Given the description of an element on the screen output the (x, y) to click on. 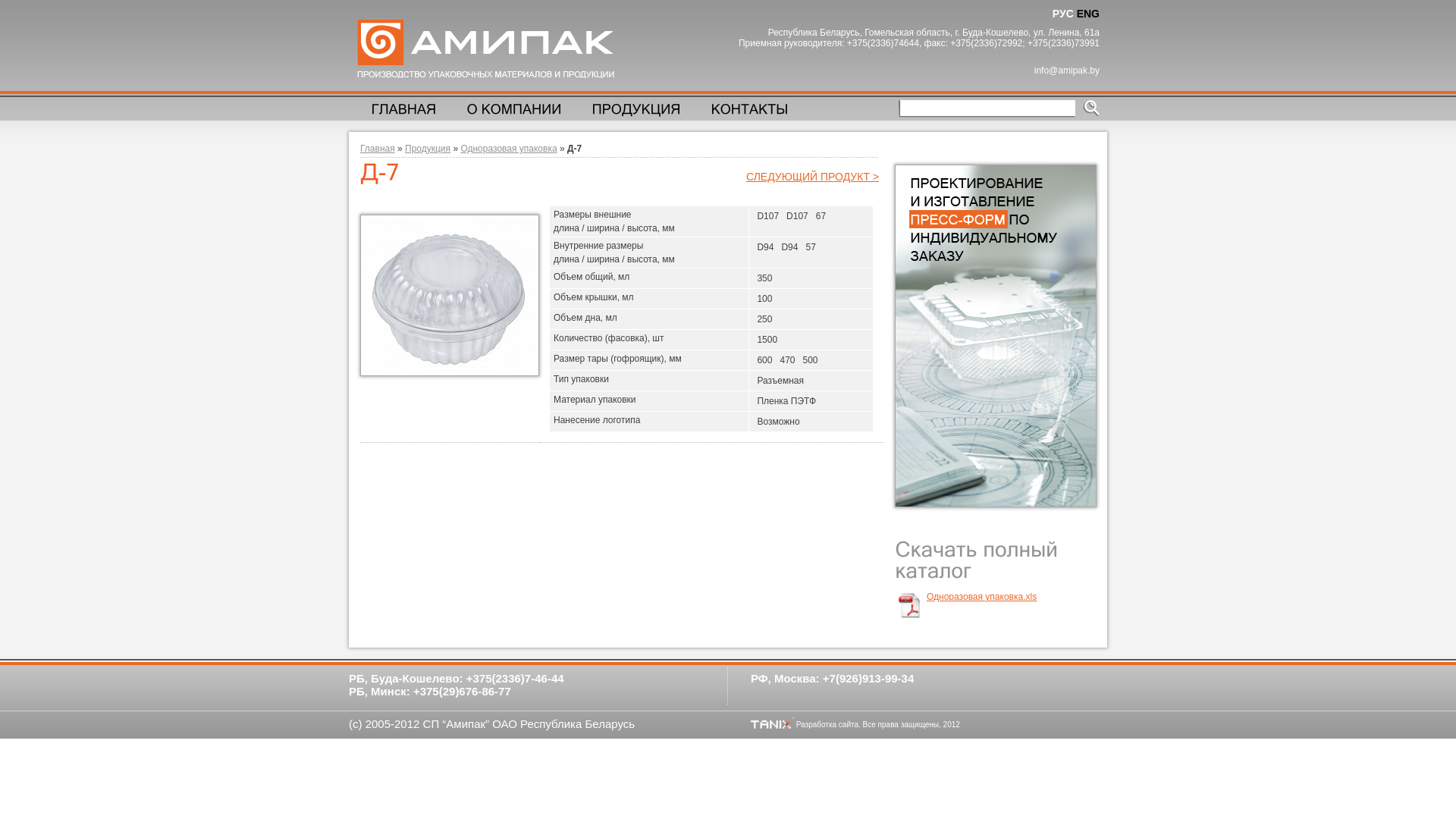
ENG Element type: text (1087, 13)
